Given the description of an element on the screen output the (x, y) to click on. 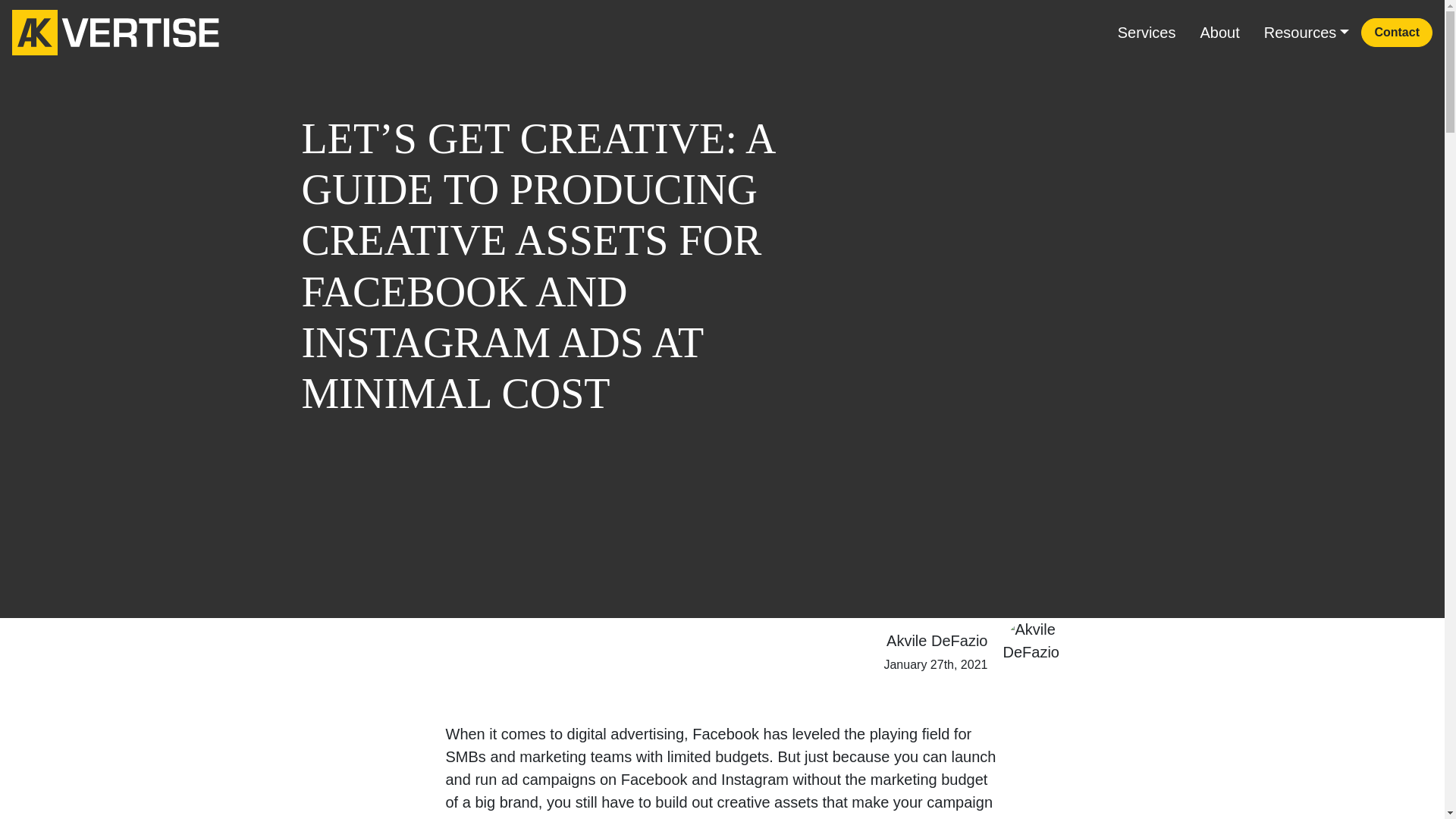
Resources (1306, 32)
About (1219, 32)
Contact (1396, 32)
Services (1146, 32)
